Given the description of an element on the screen output the (x, y) to click on. 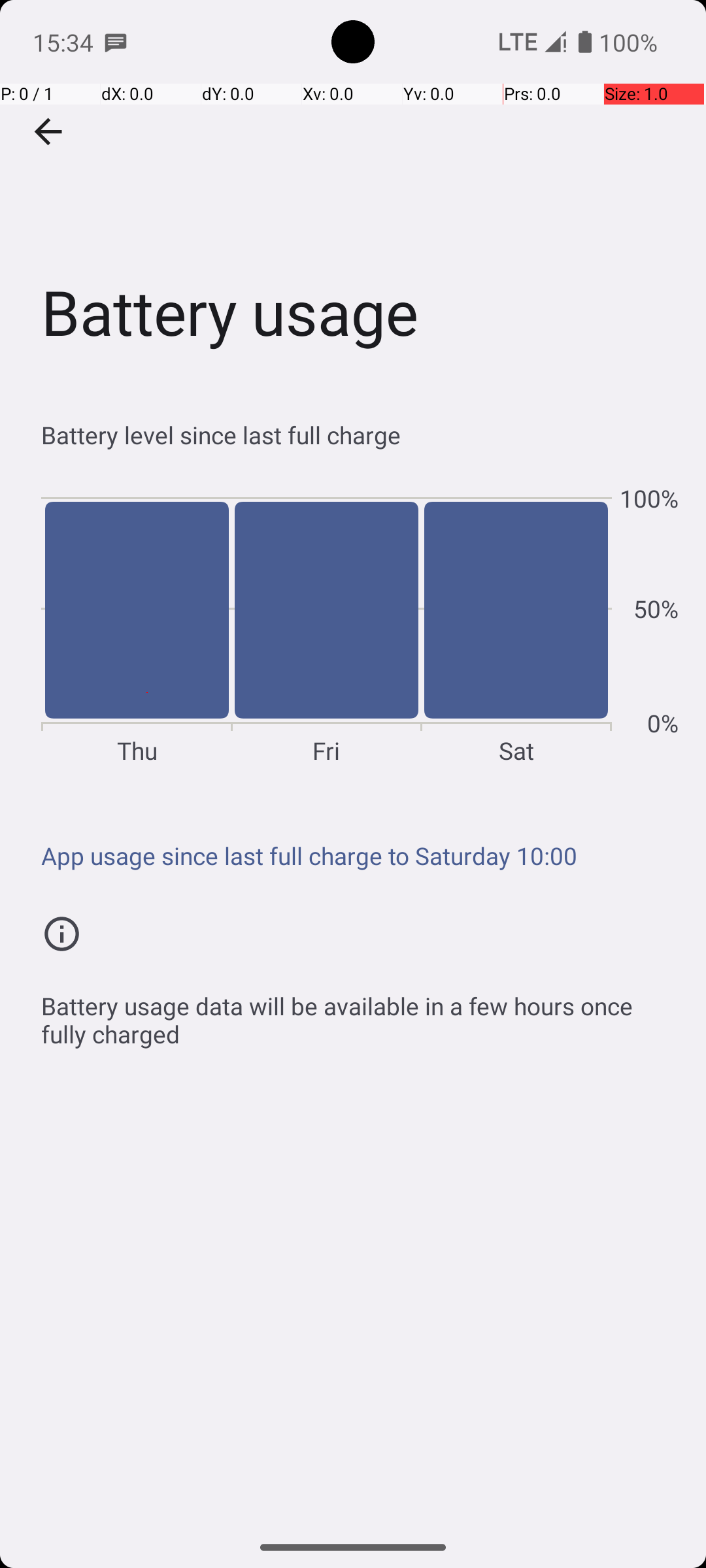
Battery level since last full charge Element type: android.widget.TextView (359, 434)
App usage since last full charge to Saturday 10:00 Element type: android.widget.TextView (359, 855)
Battery usage data will be available in a few hours once fully charged Element type: android.widget.TextView (359, 1012)
Saturday Element type: android.widget.ImageView (515, 624)
